Given the description of an element on the screen output the (x, y) to click on. 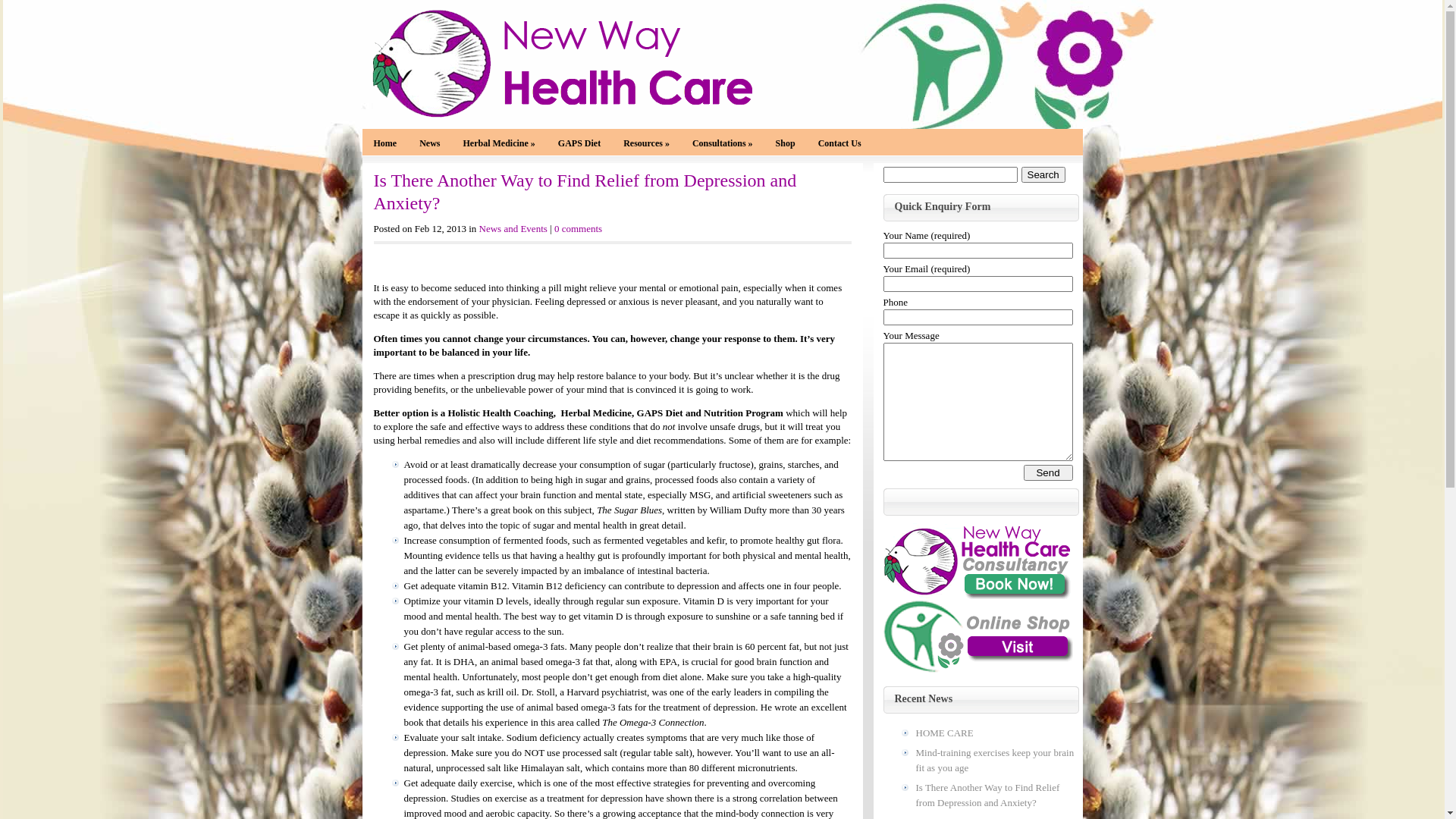
Contact Us Element type: text (839, 143)
HOME CARE Element type: text (994, 733)
Shop Element type: text (785, 143)
Mind-training exercises keep your brain fit as you age Element type: text (994, 760)
News and Events Element type: text (513, 228)
Search Element type: text (1042, 174)
Send Element type: text (1048, 472)
GAPS Diet Element type: text (578, 143)
0 comments Element type: text (578, 228)
Home Element type: text (385, 143)
News Element type: text (429, 143)
